Given the description of an element on the screen output the (x, y) to click on. 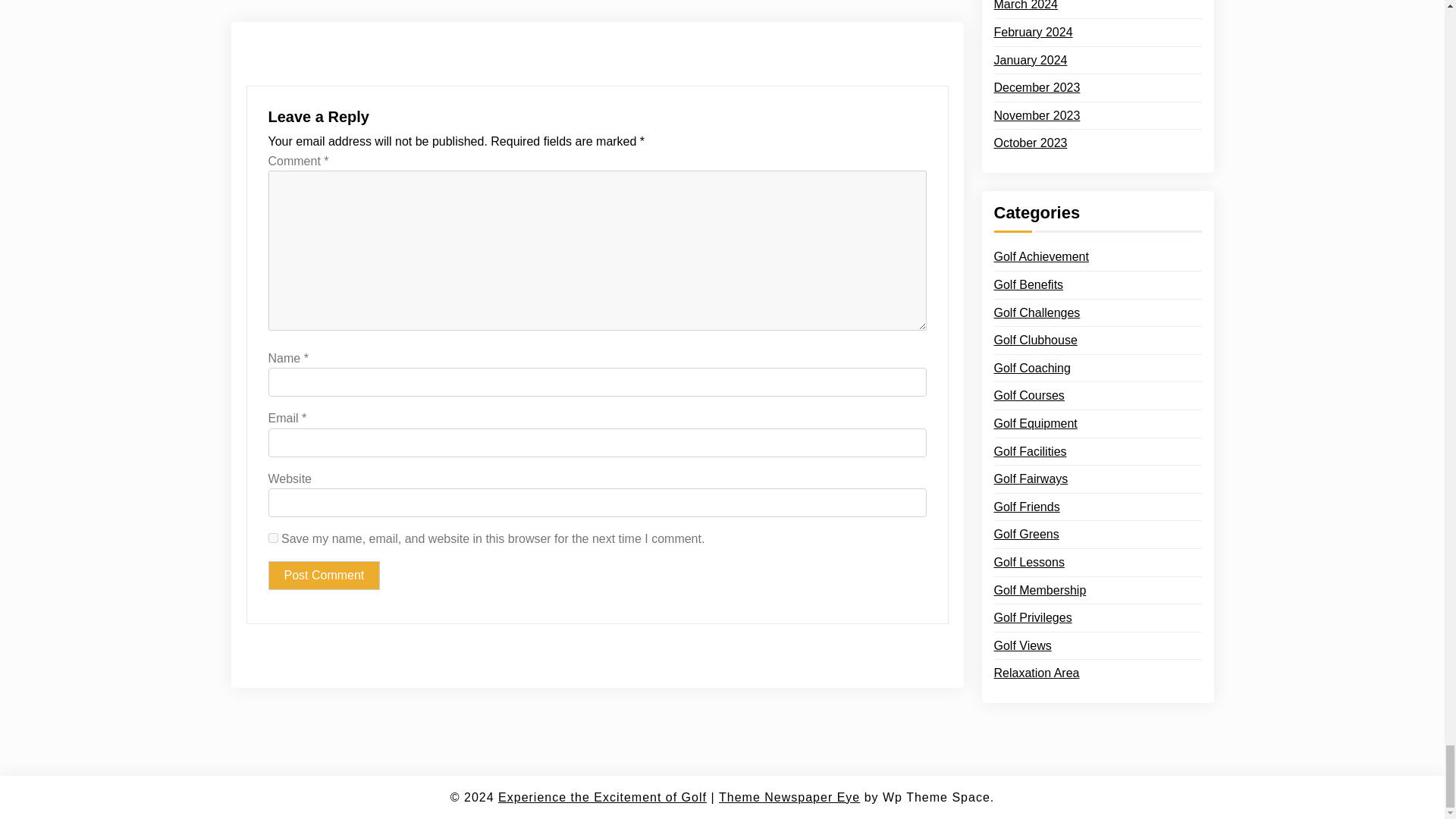
yes (272, 537)
Post Comment (323, 575)
